Given the description of an element on the screen output the (x, y) to click on. 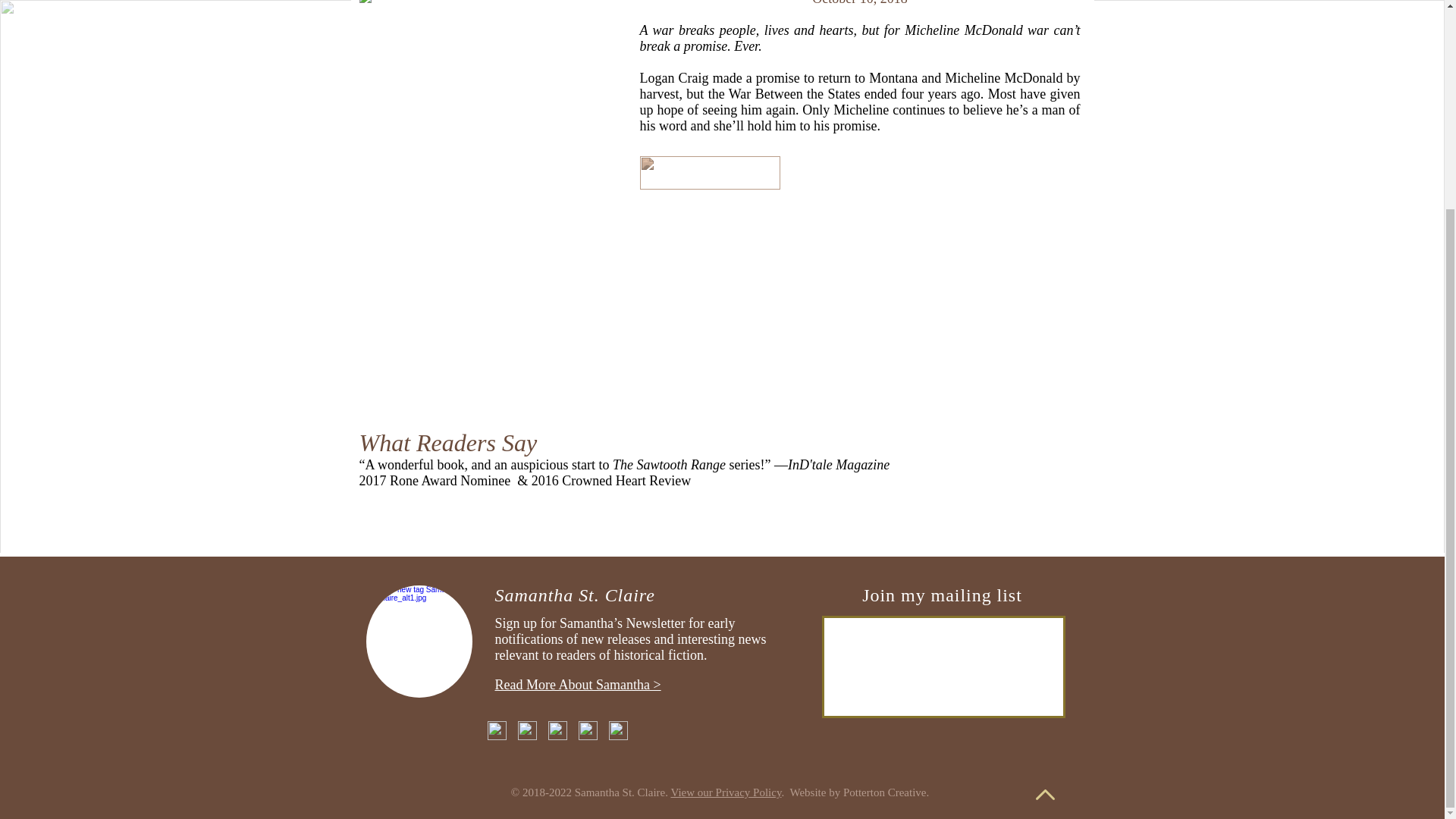
Potterton Creative (884, 792)
View our Privacy Policy (724, 792)
